Given the description of an element on the screen output the (x, y) to click on. 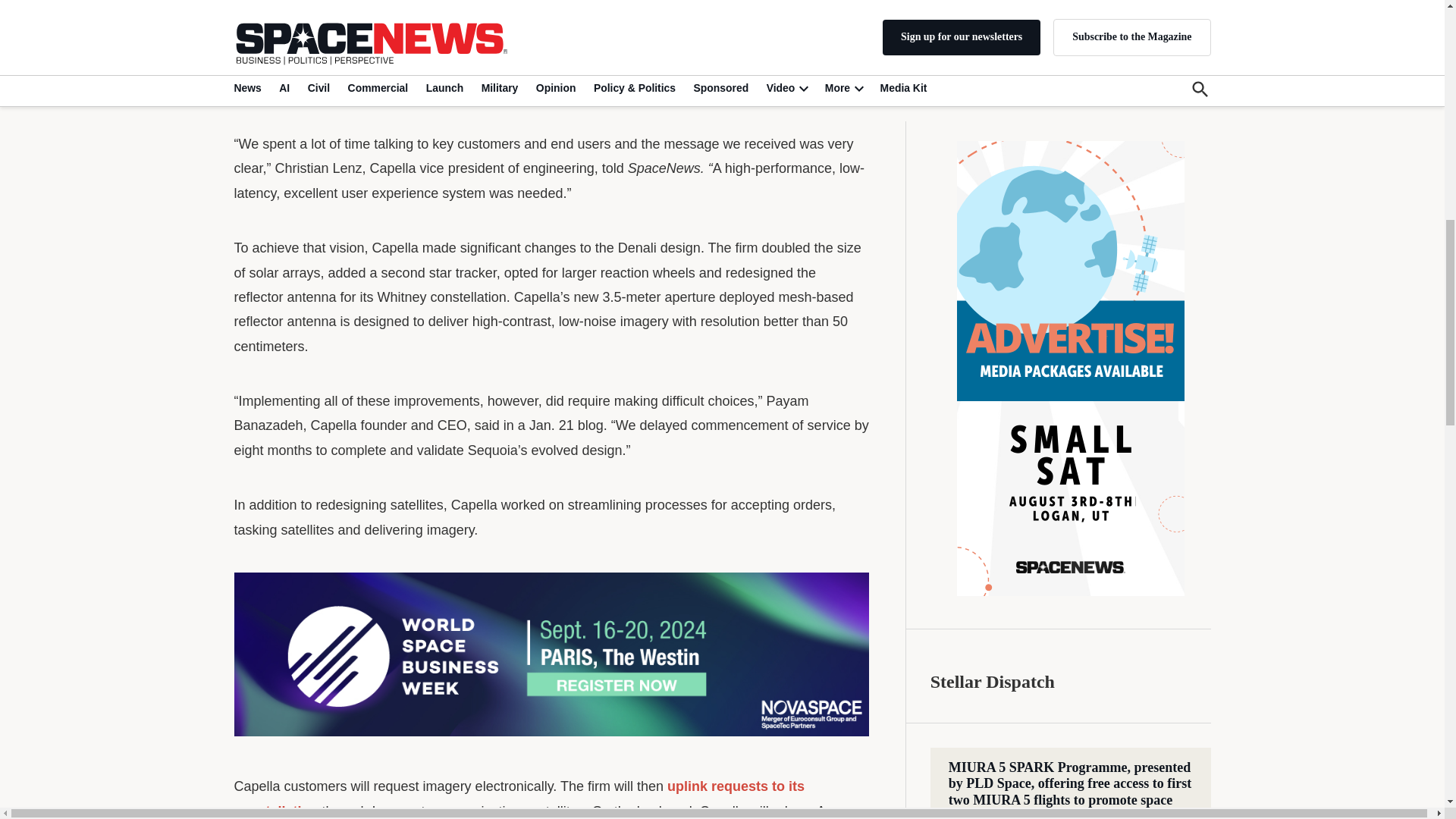
Glenn Space Technology Symposium (1064, 551)
WSBW (549, 654)
